Given the description of an element on the screen output the (x, y) to click on. 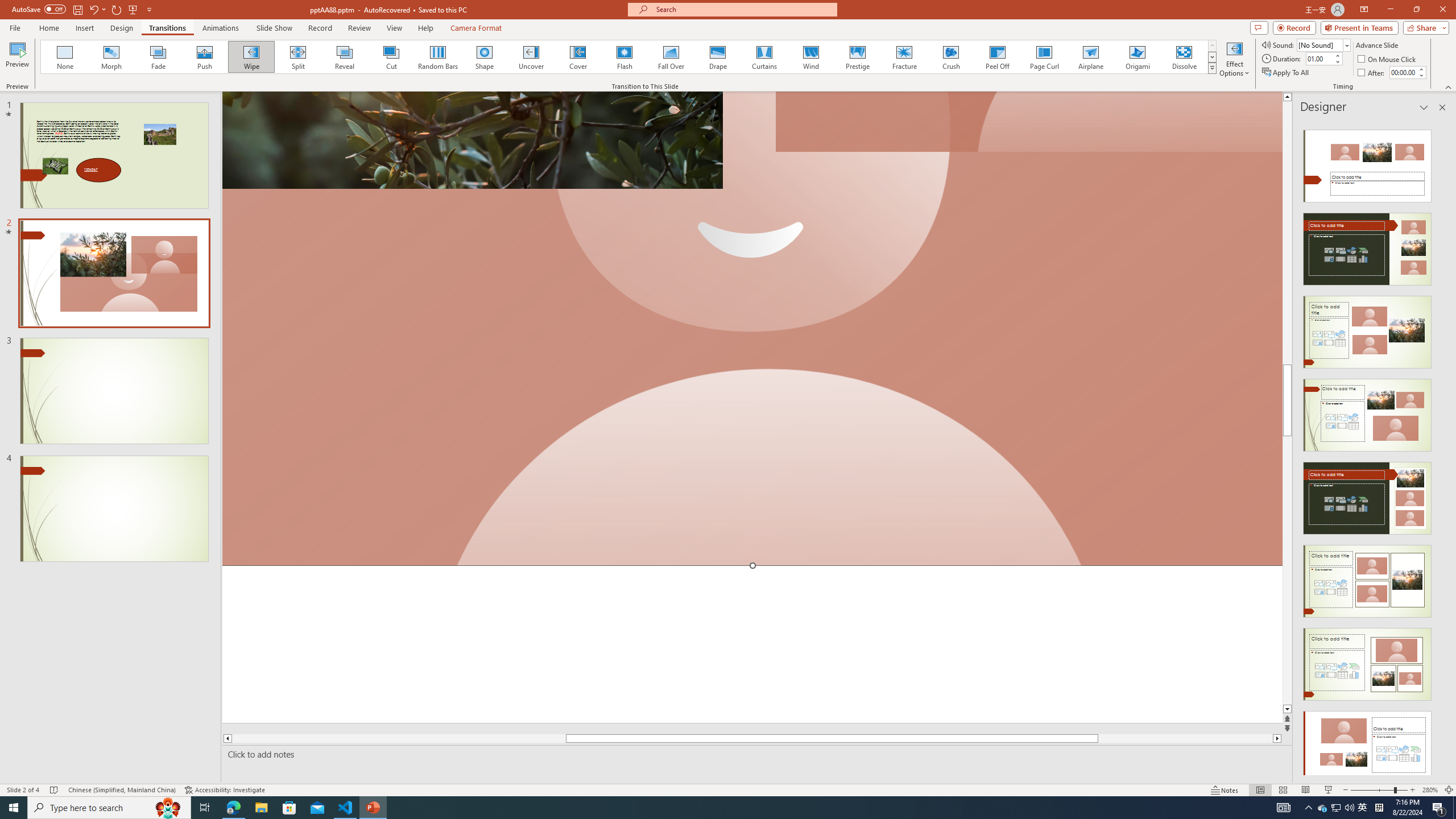
Record (1294, 27)
Random Bars (437, 56)
Prestige (857, 56)
Cover (577, 56)
Review (359, 28)
Zoom (1379, 790)
Close pane (1441, 107)
Slide Sorter (1282, 790)
Reveal (344, 56)
Push (205, 56)
Close up of an olive branch on a sunset (472, 140)
Curtains (764, 56)
Zoom to Fit  (1449, 790)
